Given the description of an element on the screen output the (x, y) to click on. 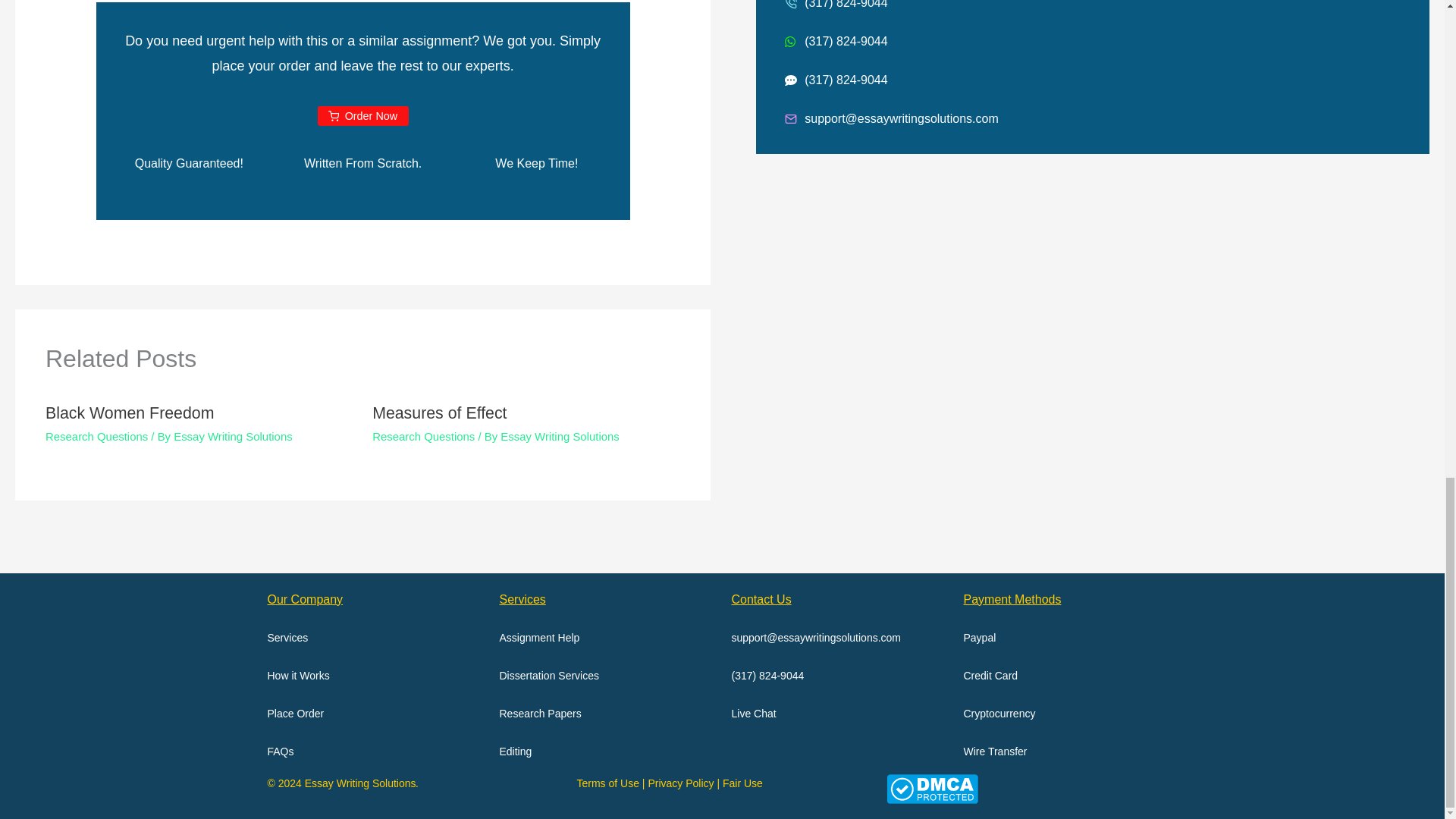
View all posts by Essay Writing Solutions (232, 436)
DMCA.com Protection Status (930, 788)
View all posts by Essay Writing Solutions (559, 436)
